Given the description of an element on the screen output the (x, y) to click on. 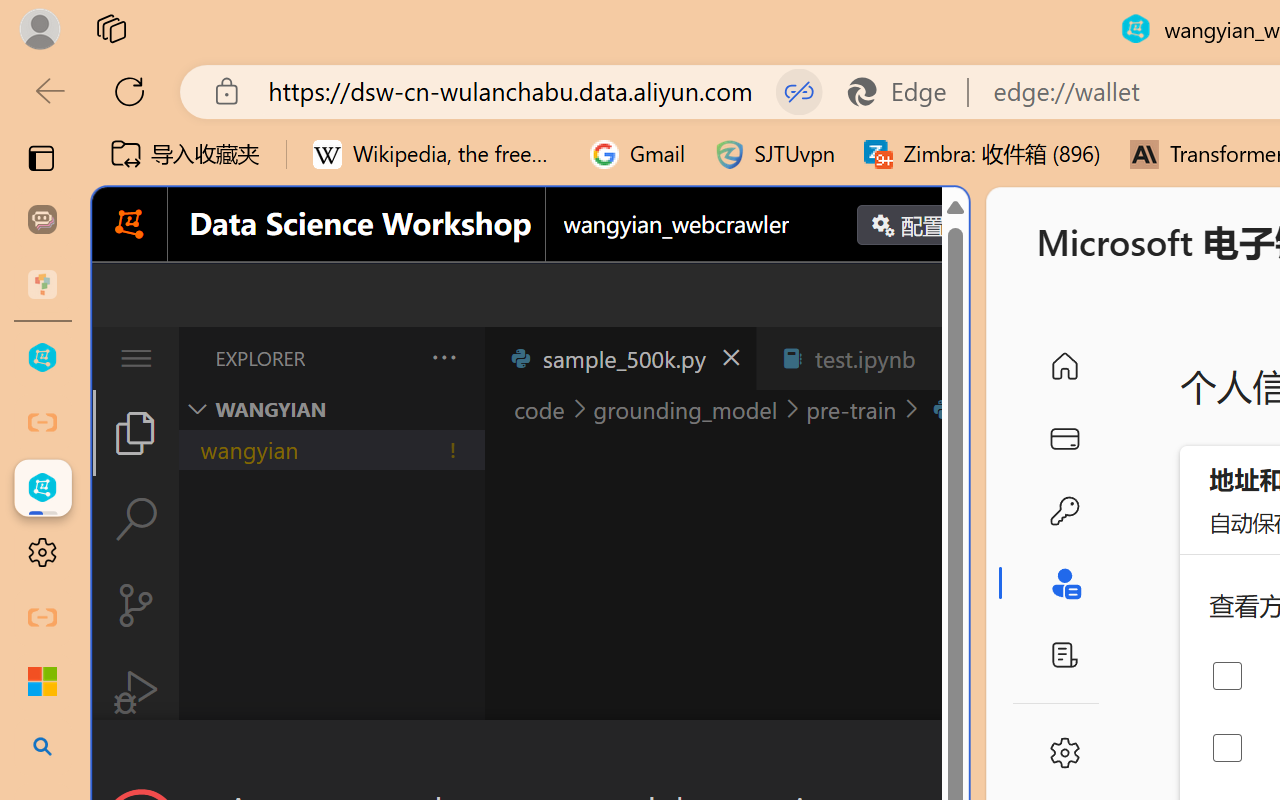
Source Control (Ctrl+Shift+G) (135, 604)
Explorer Section: wangyian (331, 409)
Class: actions-container (529, 756)
Edge (905, 91)
Wikipedia, the free encyclopedia (437, 154)
wangyian_webcrawler - DSW (42, 487)
